Given the description of an element on the screen output the (x, y) to click on. 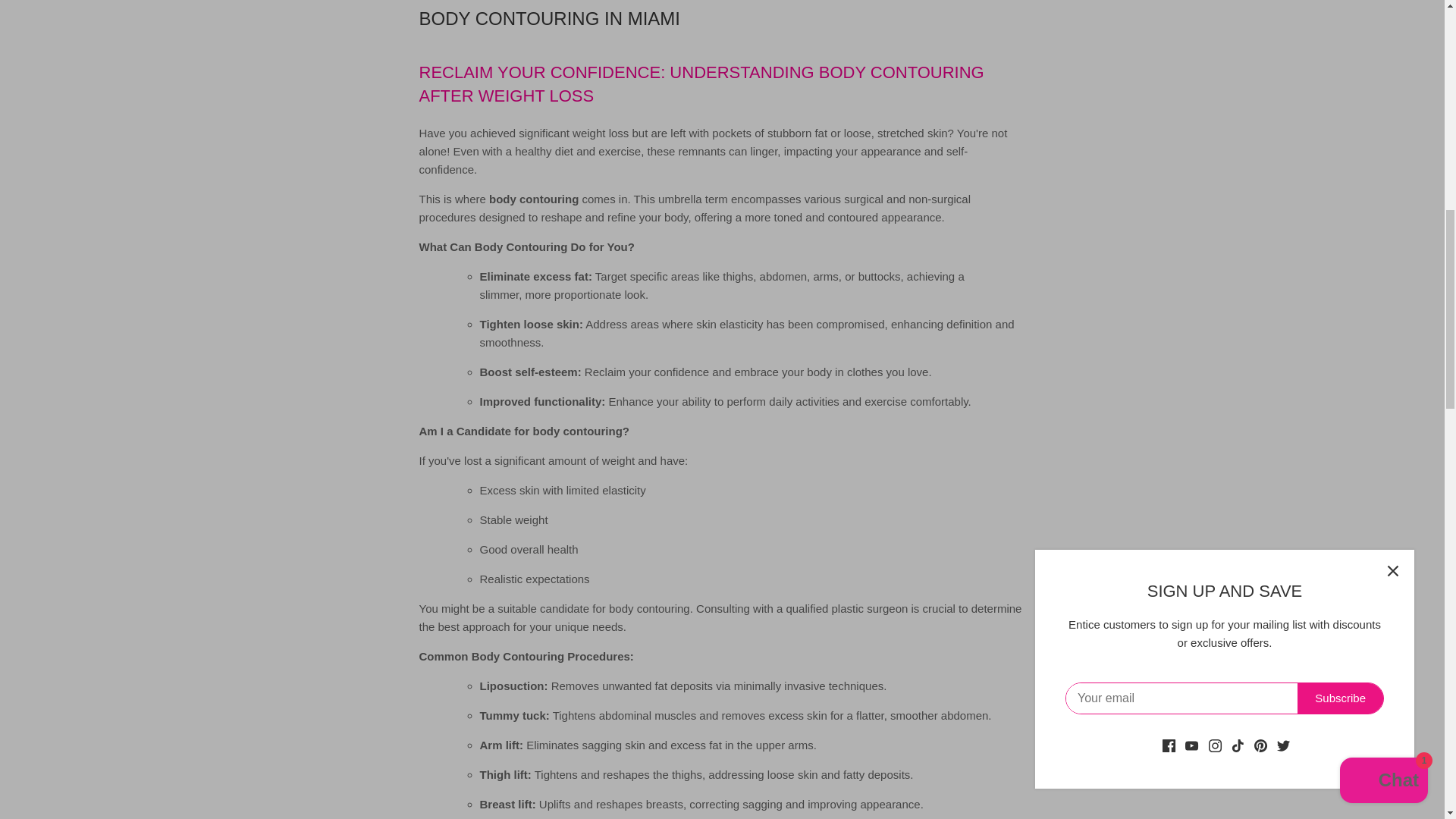
Understanding Body Contouring After Weight Loss (701, 84)
